Given the description of an element on the screen output the (x, y) to click on. 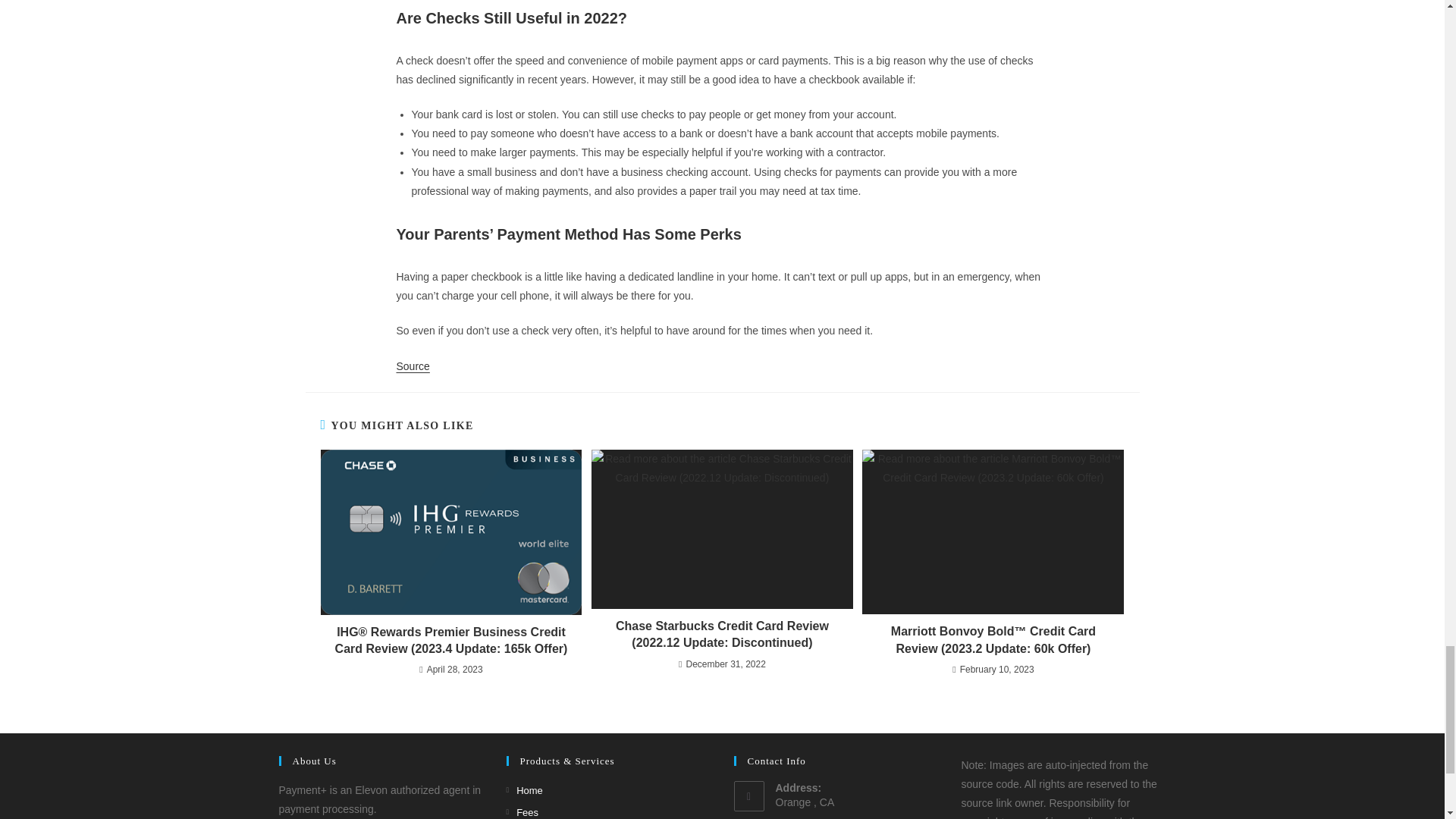
Home (524, 790)
Fees (522, 811)
Source (412, 366)
